Given the description of an element on the screen output the (x, y) to click on. 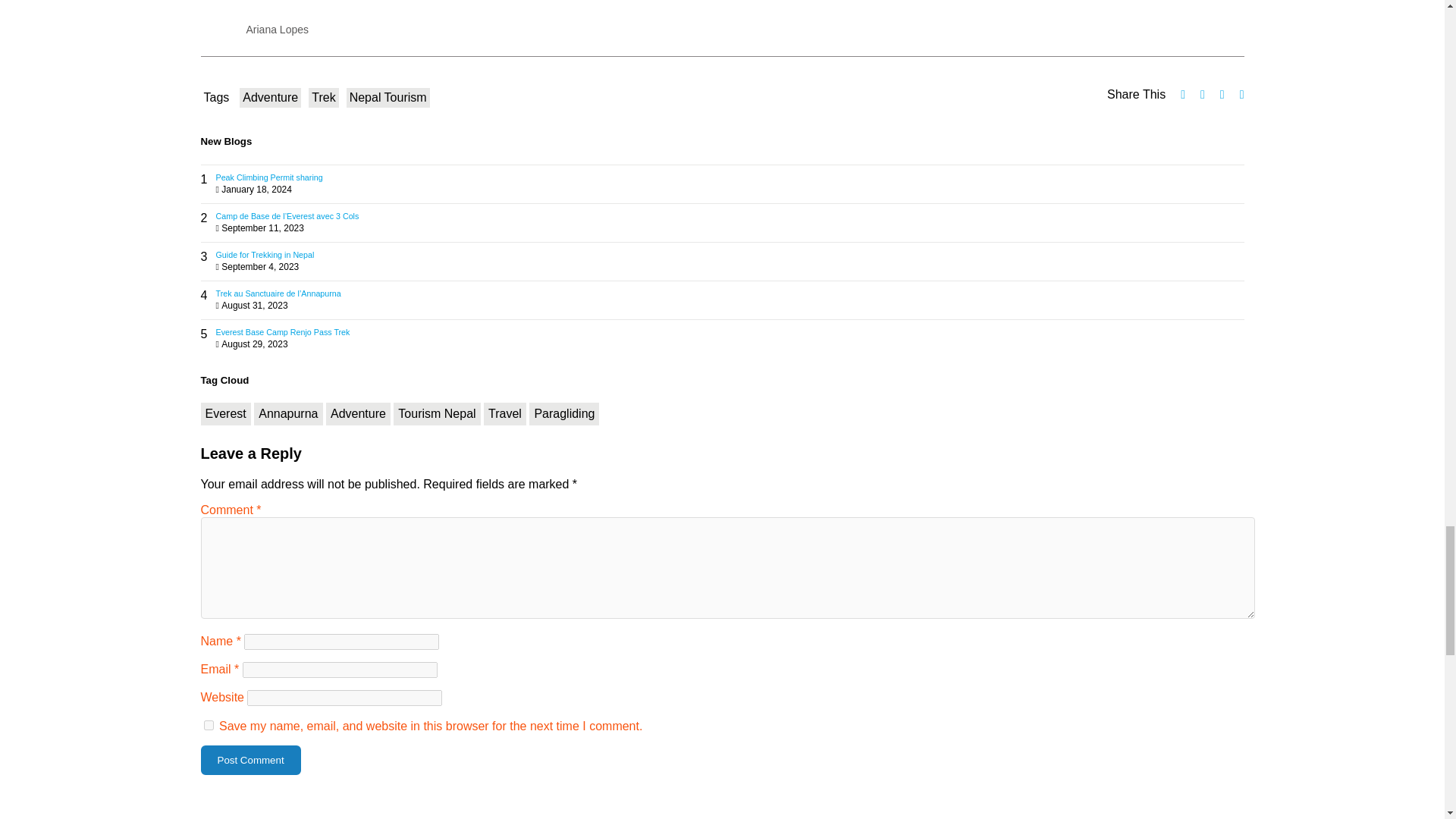
Post Comment (249, 759)
yes (207, 725)
